Given the description of an element on the screen output the (x, y) to click on. 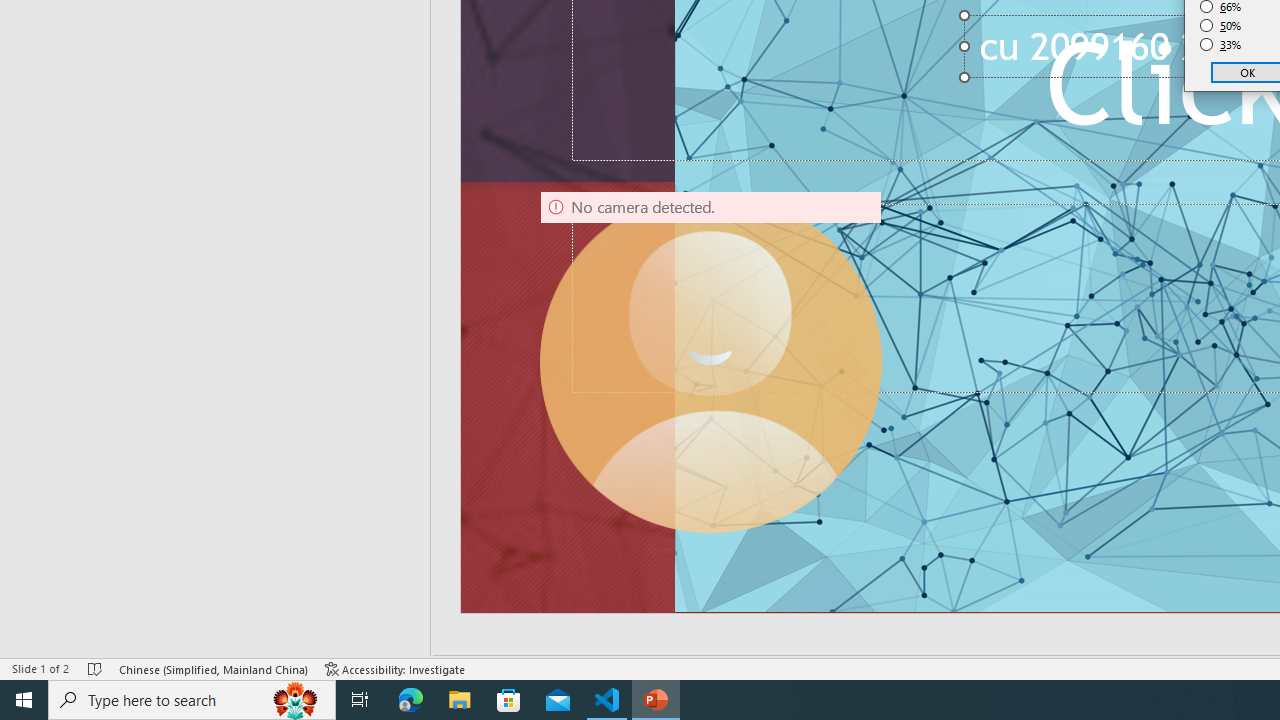
Spell Check No Errors (95, 668)
File Explorer (460, 699)
PowerPoint - 1 running window (656, 699)
Search highlights icon opens search home window (295, 699)
33% (1221, 44)
Accessibility Checker Accessibility: Investigate (395, 668)
Camera 9, No camera detected. (710, 362)
Type here to search (191, 699)
Visual Studio Code - 1 running window (607, 699)
Microsoft Edge (411, 699)
Task View (359, 699)
Microsoft Store (509, 699)
50% (1221, 25)
Start (24, 699)
